Given the description of an element on the screen output the (x, y) to click on. 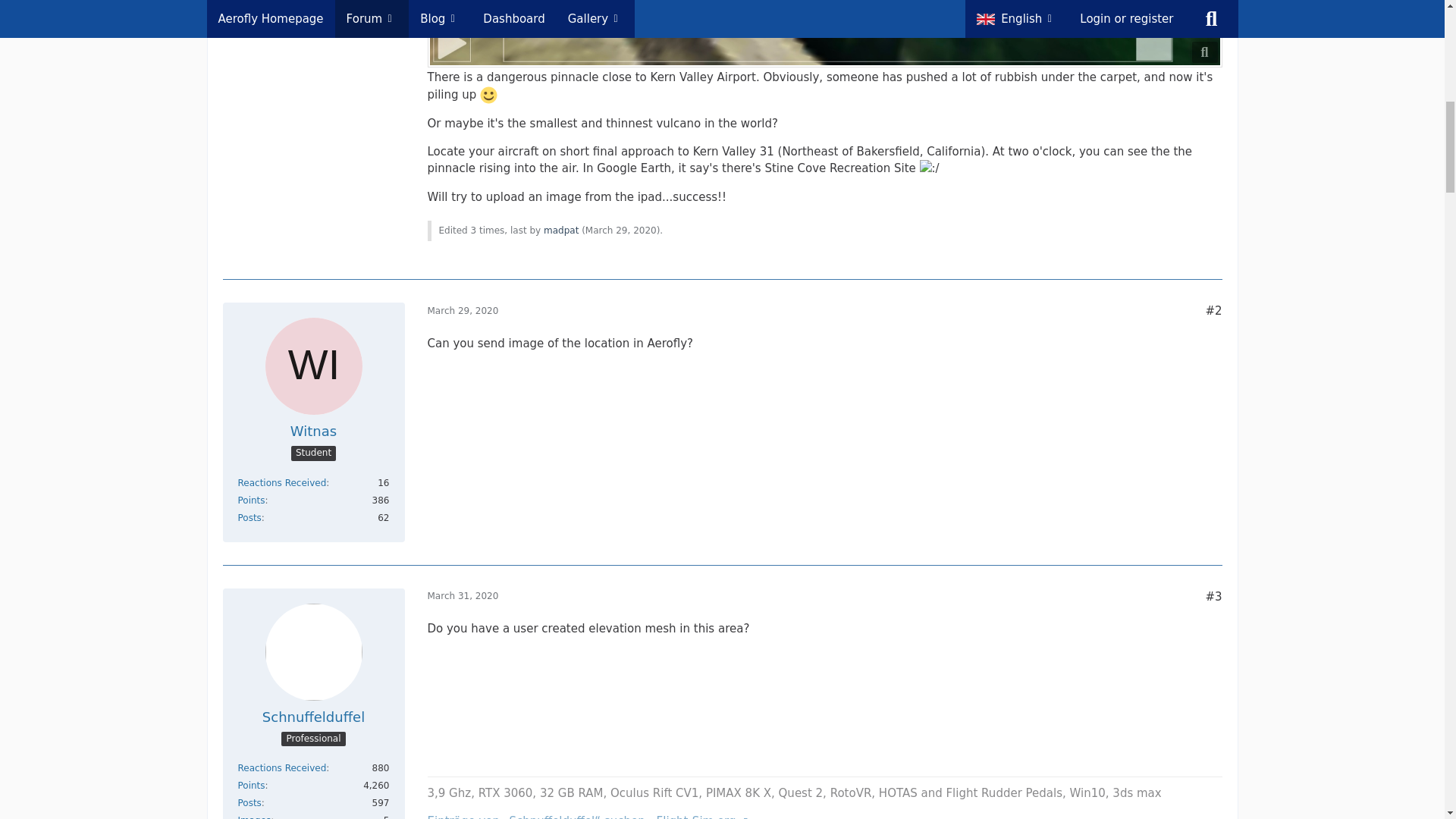
smile (488, 95)
Witnas (312, 430)
unsure (929, 167)
madpat (560, 230)
